Given the description of an element on the screen output the (x, y) to click on. 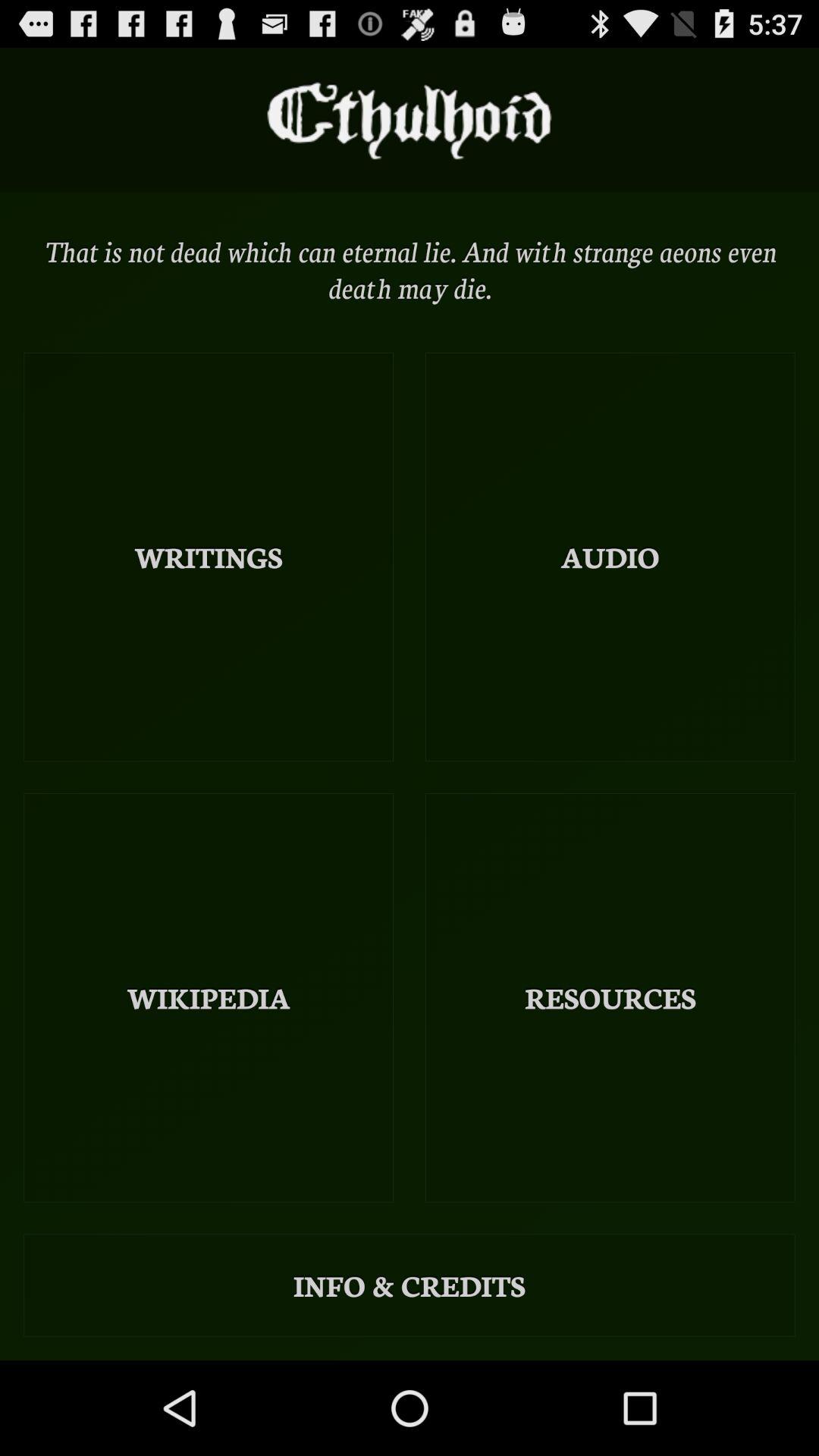
choose icon below the wikipedia item (409, 1285)
